Given the description of an element on the screen output the (x, y) to click on. 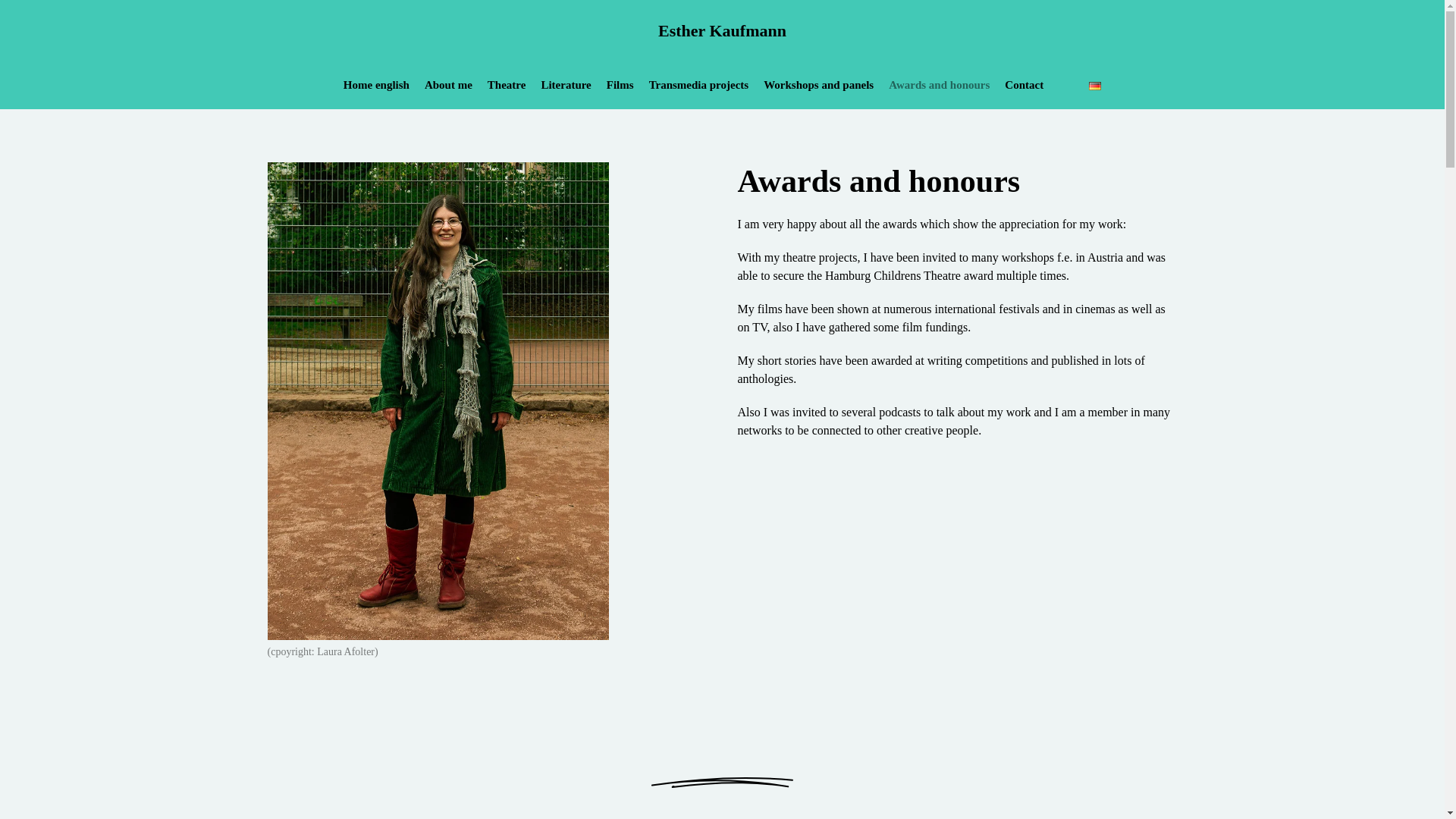
Theatre (506, 85)
Workshops and panels (817, 85)
Home english (376, 85)
About me (448, 85)
Transmedia projects (699, 85)
Films (620, 85)
Esther Kaufmann (722, 30)
Contact (1023, 85)
Awards and honours (939, 85)
Literature (565, 85)
